Given the description of an element on the screen output the (x, y) to click on. 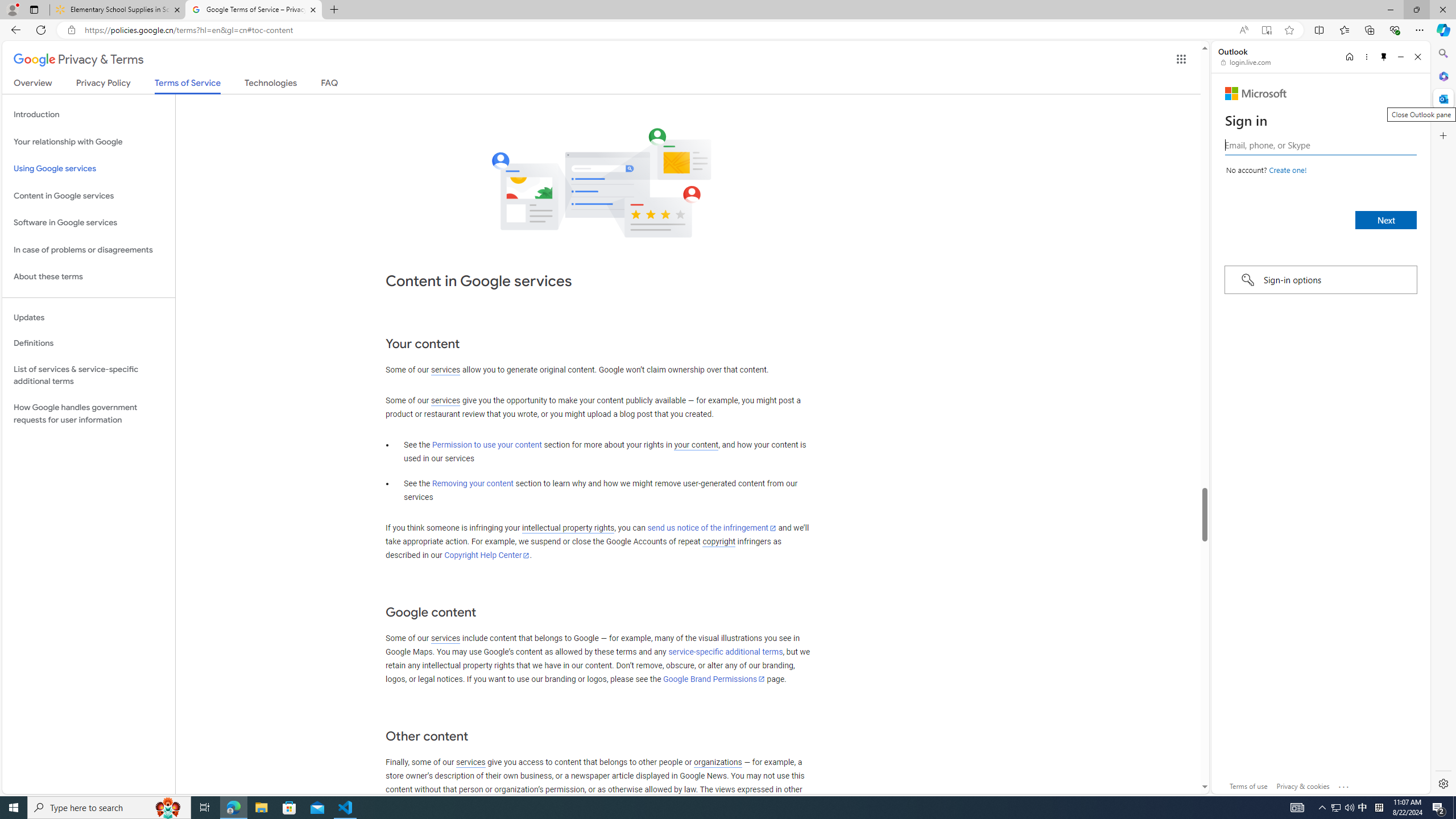
Sign-in options (1320, 279)
Click here for troubleshooting information (1344, 784)
Terms of use (1249, 785)
Create a Microsoft account (1287, 169)
login.live.com (1246, 61)
